Given the description of an element on the screen output the (x, y) to click on. 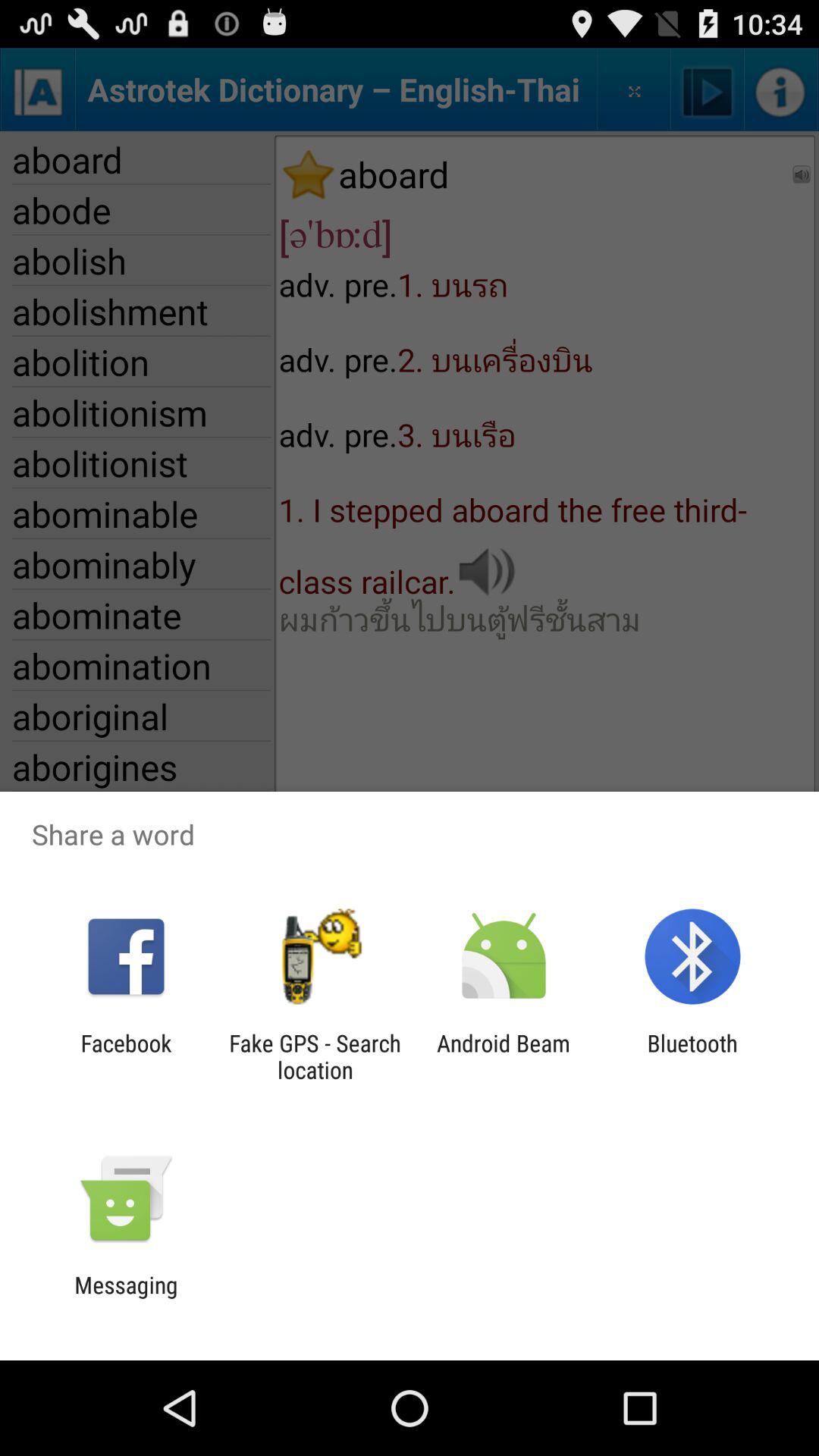
press the item to the left of the bluetooth app (503, 1056)
